Given the description of an element on the screen output the (x, y) to click on. 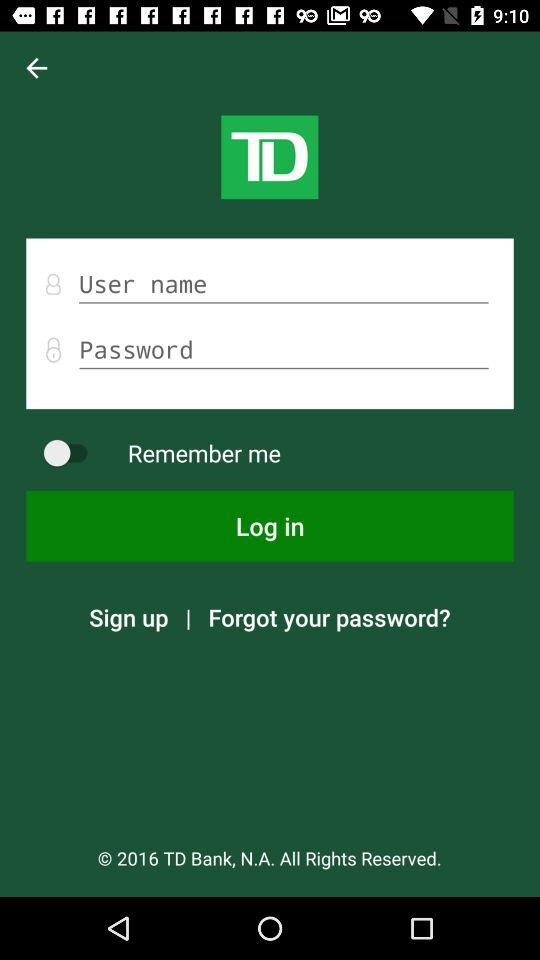
swipe until the log in icon (269, 525)
